Given the description of an element on the screen output the (x, y) to click on. 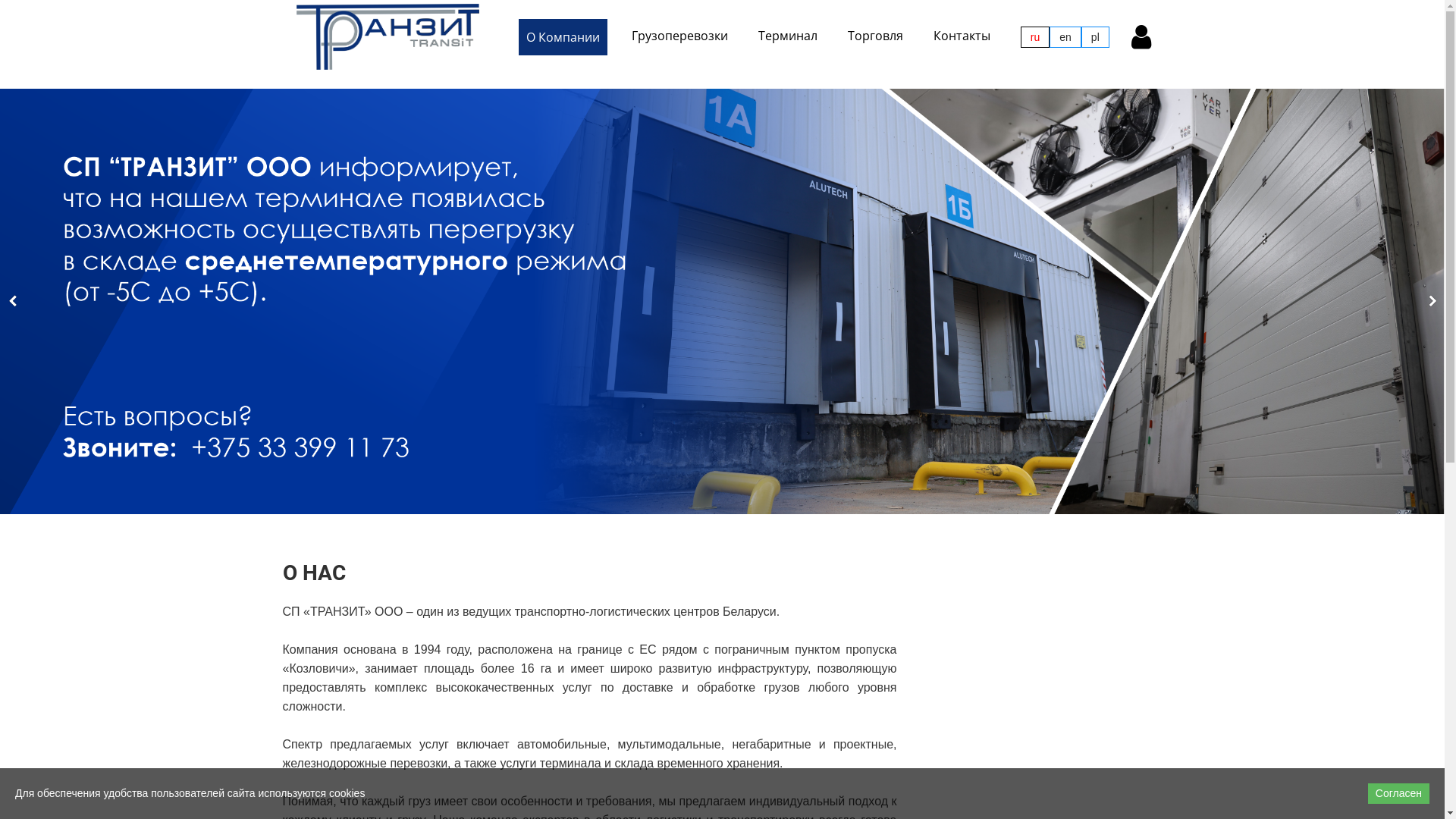
ru Element type: text (1034, 36)
en Element type: text (1065, 36)
pl Element type: text (1095, 36)
